Given the description of an element on the screen output the (x, y) to click on. 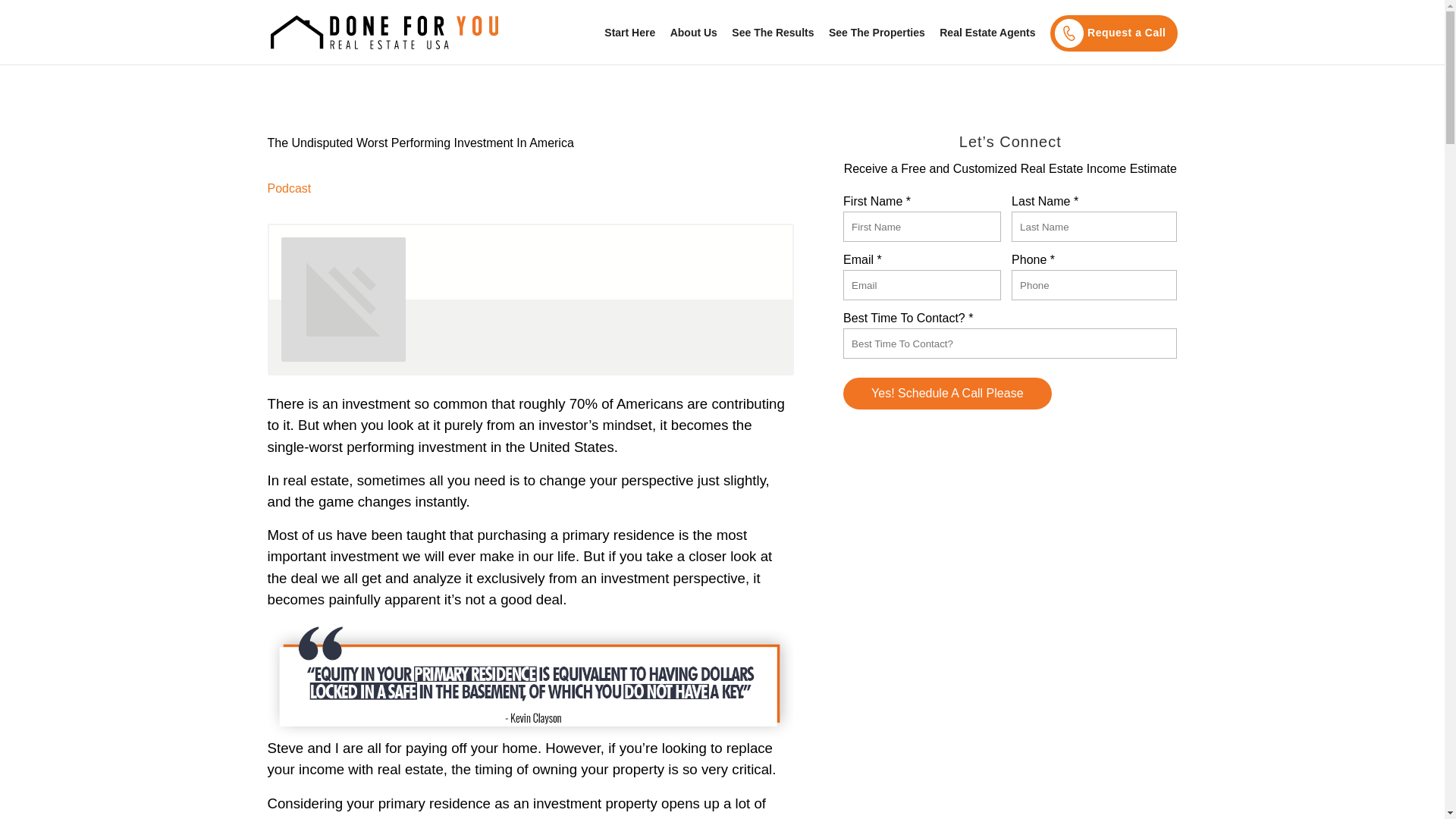
Request a Call (1110, 32)
Kevin Clayson Quote on Primary Home Equity (529, 673)
Real Estate Agents (987, 45)
About Us (693, 45)
Contact DFY real estate (1070, 32)
Yes! Schedule A Call Please (947, 393)
See The Properties (876, 45)
Contact DFY real estate (1110, 32)
See The Results (772, 45)
Podcast (288, 187)
Start Here (629, 45)
